Given the description of an element on the screen output the (x, y) to click on. 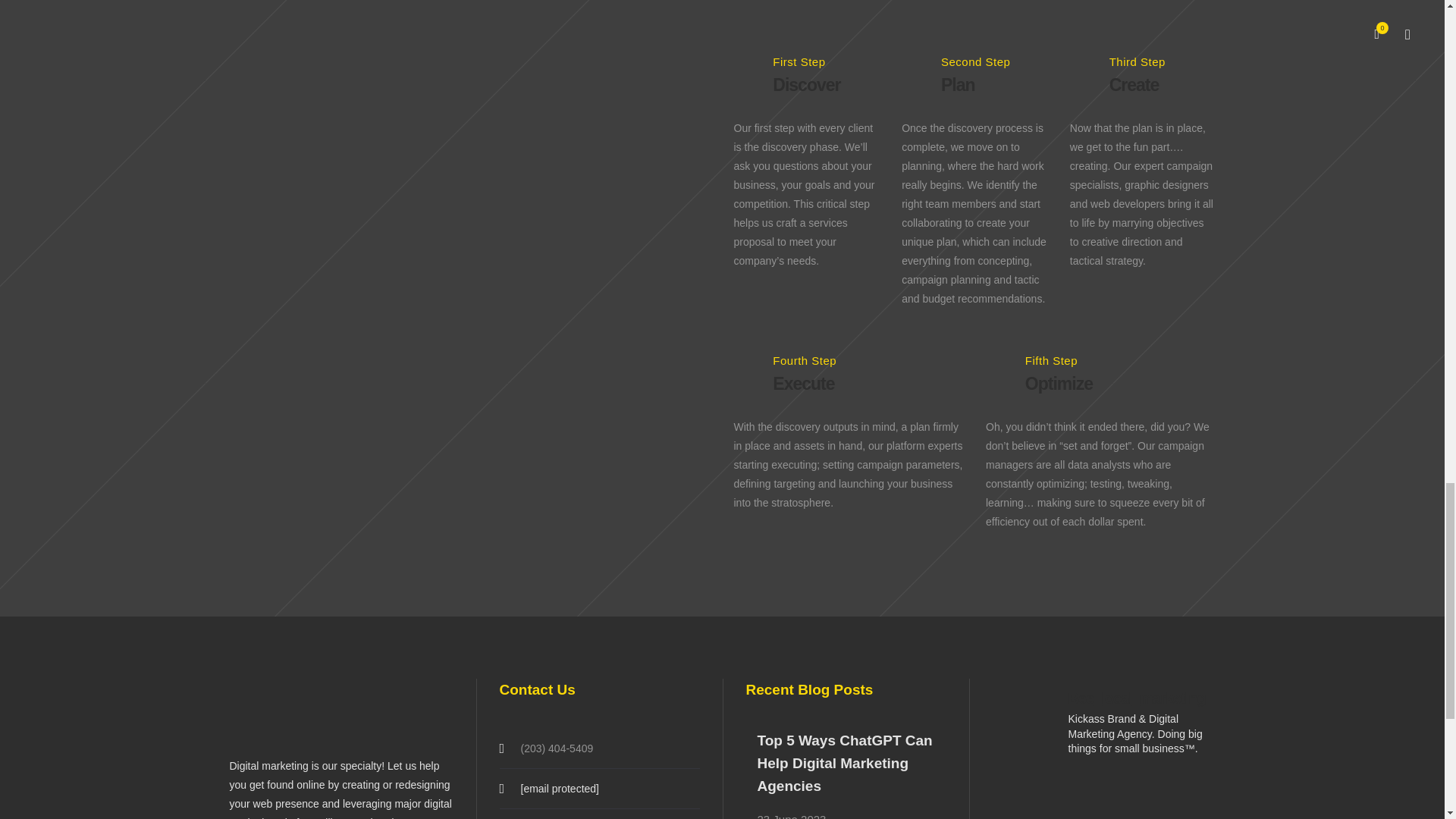
Top 5 Ways ChatGPT Can Help Digital Marketing Agencies (844, 762)
